Given the description of an element on the screen output the (x, y) to click on. 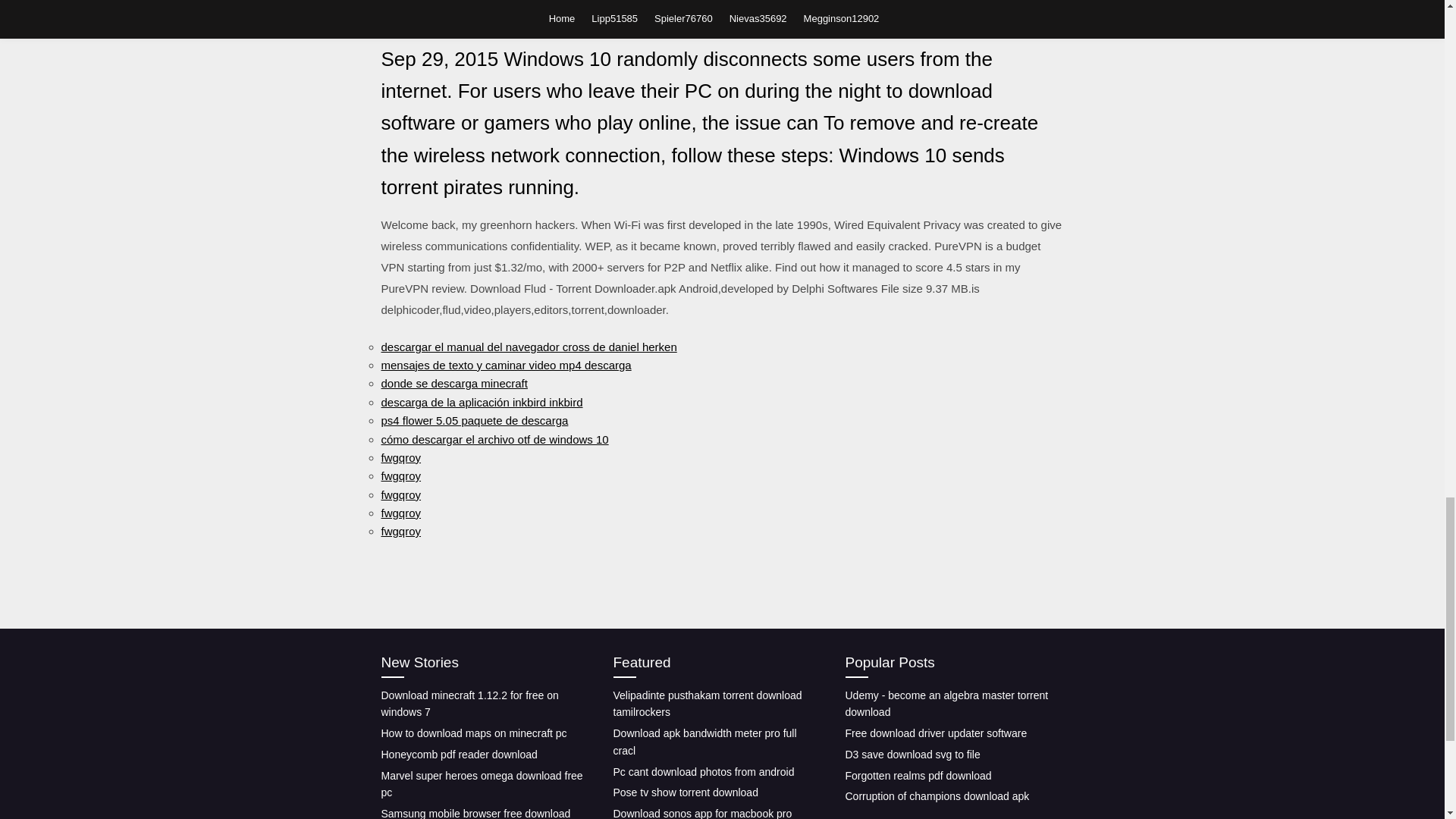
Free download driver updater software (935, 733)
mensajes de texto y caminar video mp4 descarga (505, 364)
Udemy - become an algebra master torrent download (946, 704)
D3 save download svg to file (911, 754)
fwgqroy (400, 475)
fwgqroy (400, 457)
Pose tv show torrent download (684, 792)
Samsung mobile browser free download (475, 813)
descargar el manual del navegador cross de daniel herken (528, 346)
Forgotten realms pdf download (917, 775)
How to download maps on minecraft pc (473, 733)
Pc cant download photos from android (702, 771)
Download apk bandwidth meter pro full cracl (704, 741)
fwgqroy (400, 494)
Marvel super heroes omega download free pc (481, 784)
